Given the description of an element on the screen output the (x, y) to click on. 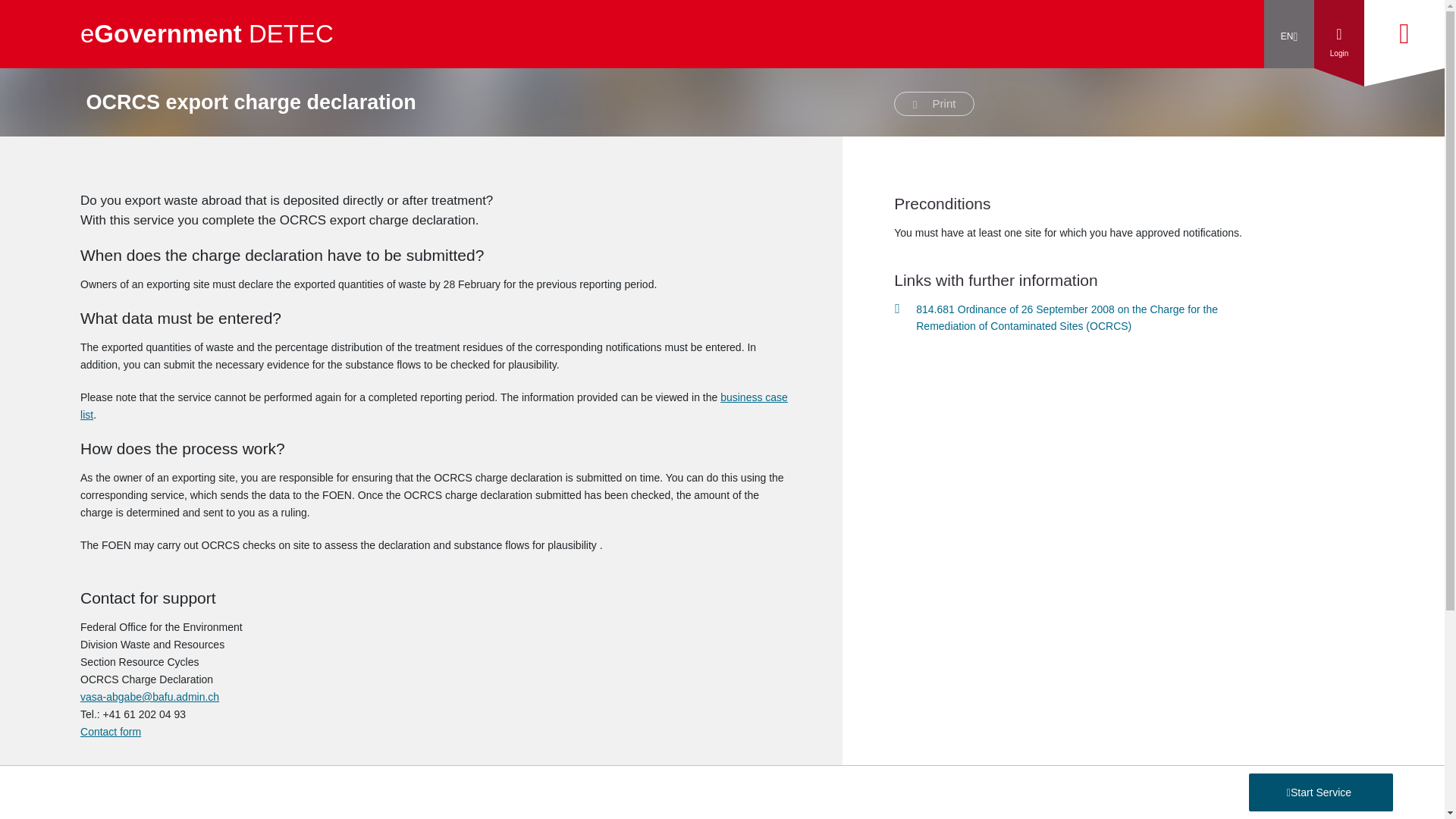
eGovernment DETEC (206, 34)
Start Service (1321, 792)
Contact form (110, 731)
business case list (433, 405)
